Given the description of an element on the screen output the (x, y) to click on. 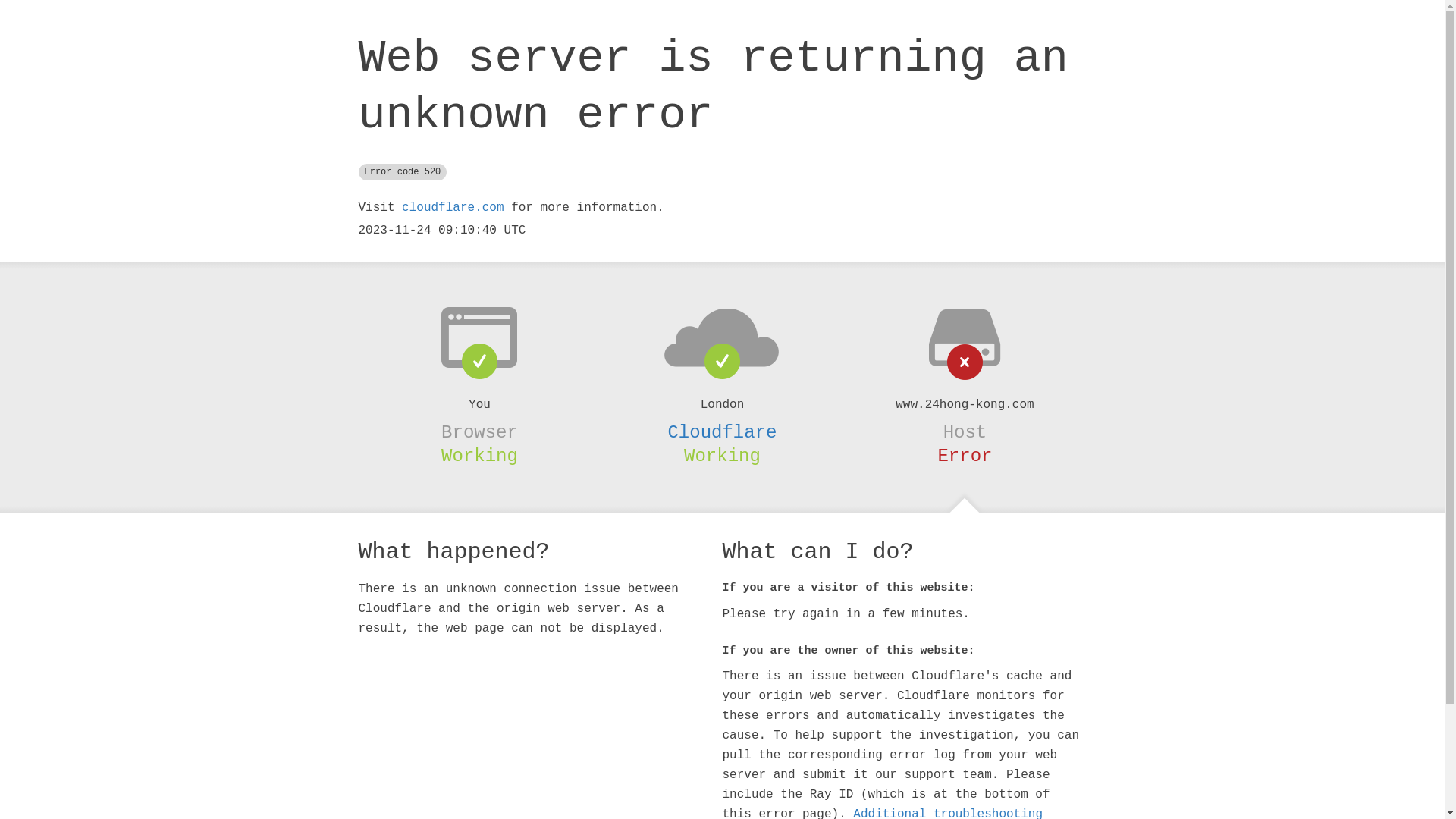
cloudflare.com Element type: text (452, 207)
Cloudflare Element type: text (721, 432)
